Given the description of an element on the screen output the (x, y) to click on. 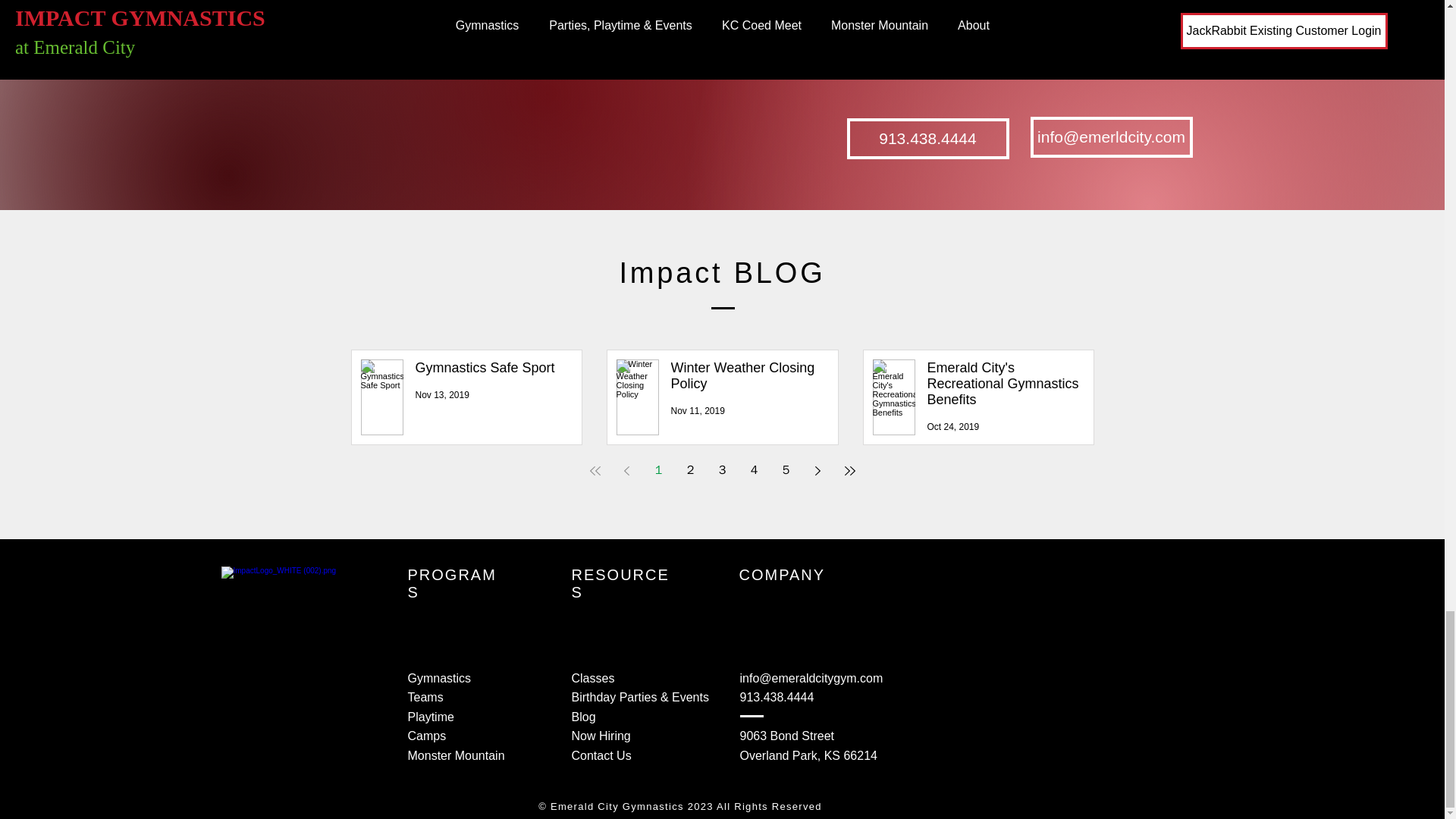
Nov 11, 2019 (696, 410)
Oct 24, 2019 (952, 426)
Nov 13, 2019 (441, 394)
